Given the description of an element on the screen output the (x, y) to click on. 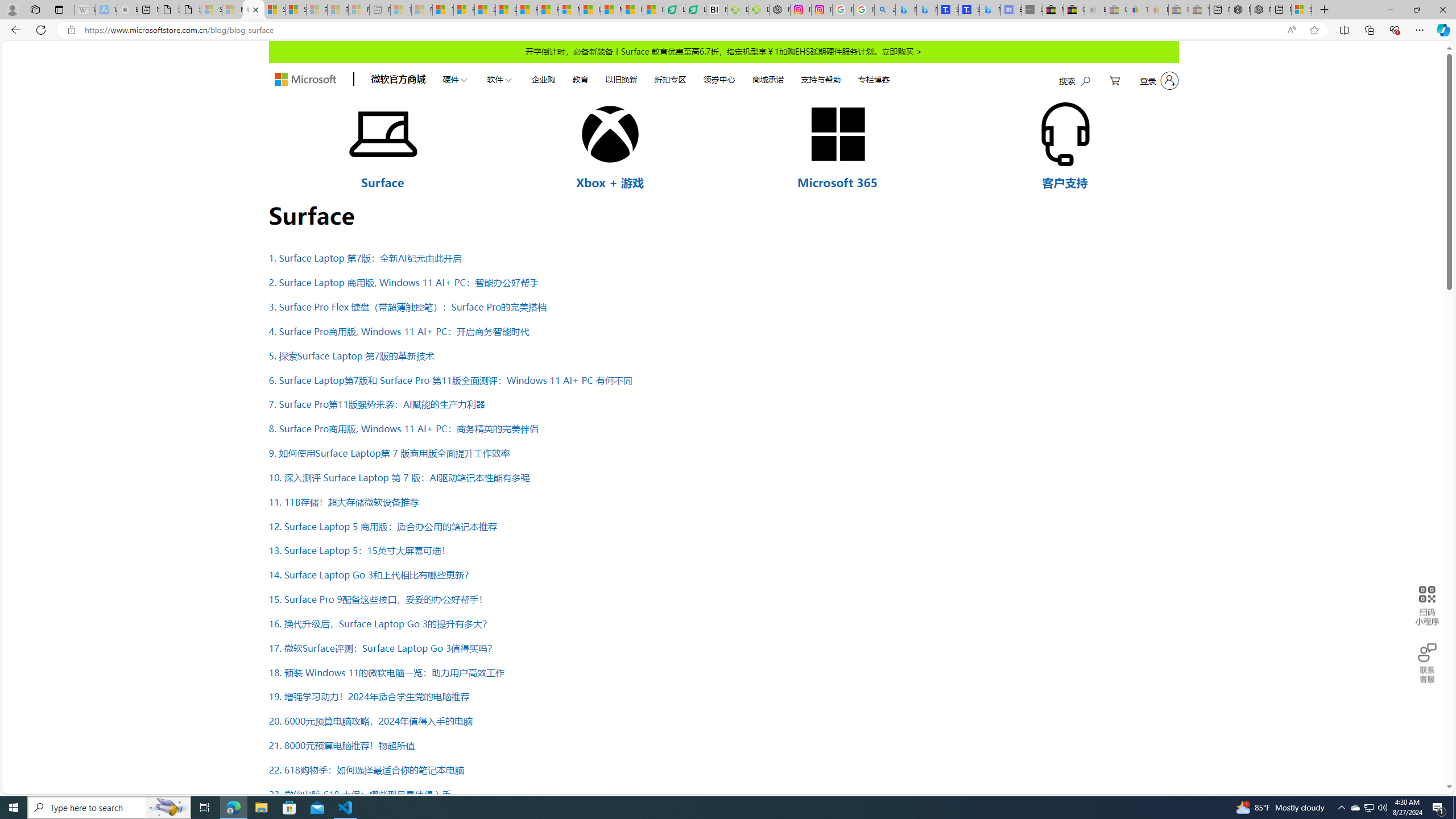
Shangri-La Bangkok, Hotel reviews and Room rates (968, 9)
Wikipedia - Sleeping (84, 9)
Threats and offensive language policy | eBay (1137, 9)
US Heat Deaths Soared To Record High Last Year (590, 9)
Sign in to your Microsoft account - Sleeping (211, 9)
My Cart (1115, 80)
LendingTree - Compare Lenders (694, 9)
